Given the description of an element on the screen output the (x, y) to click on. 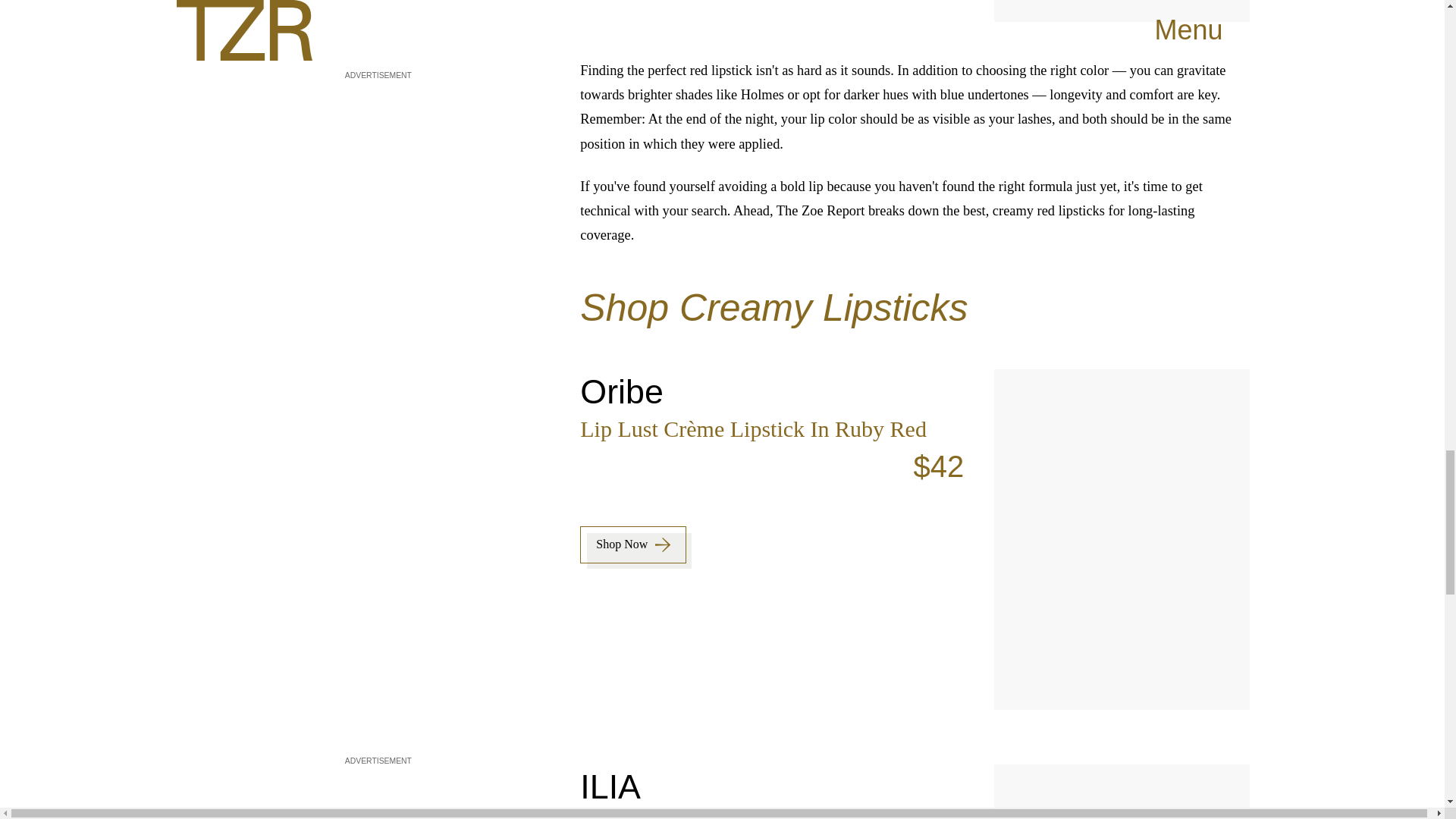
Shop Now (632, 544)
